Given the description of an element on the screen output the (x, y) to click on. 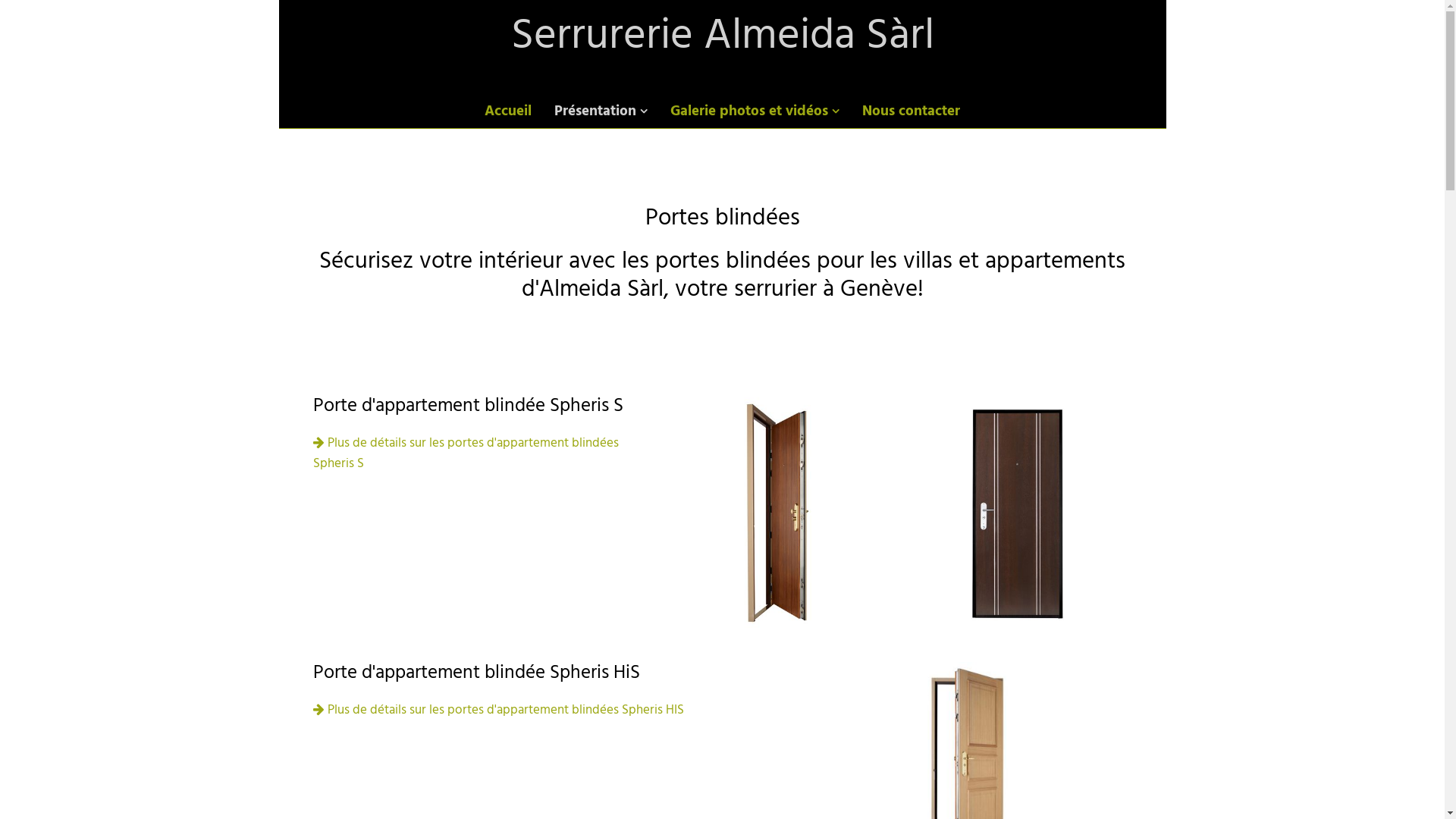
Nous contacter Element type: text (911, 111)
Accueil Element type: text (507, 111)
